Given the description of an element on the screen output the (x, y) to click on. 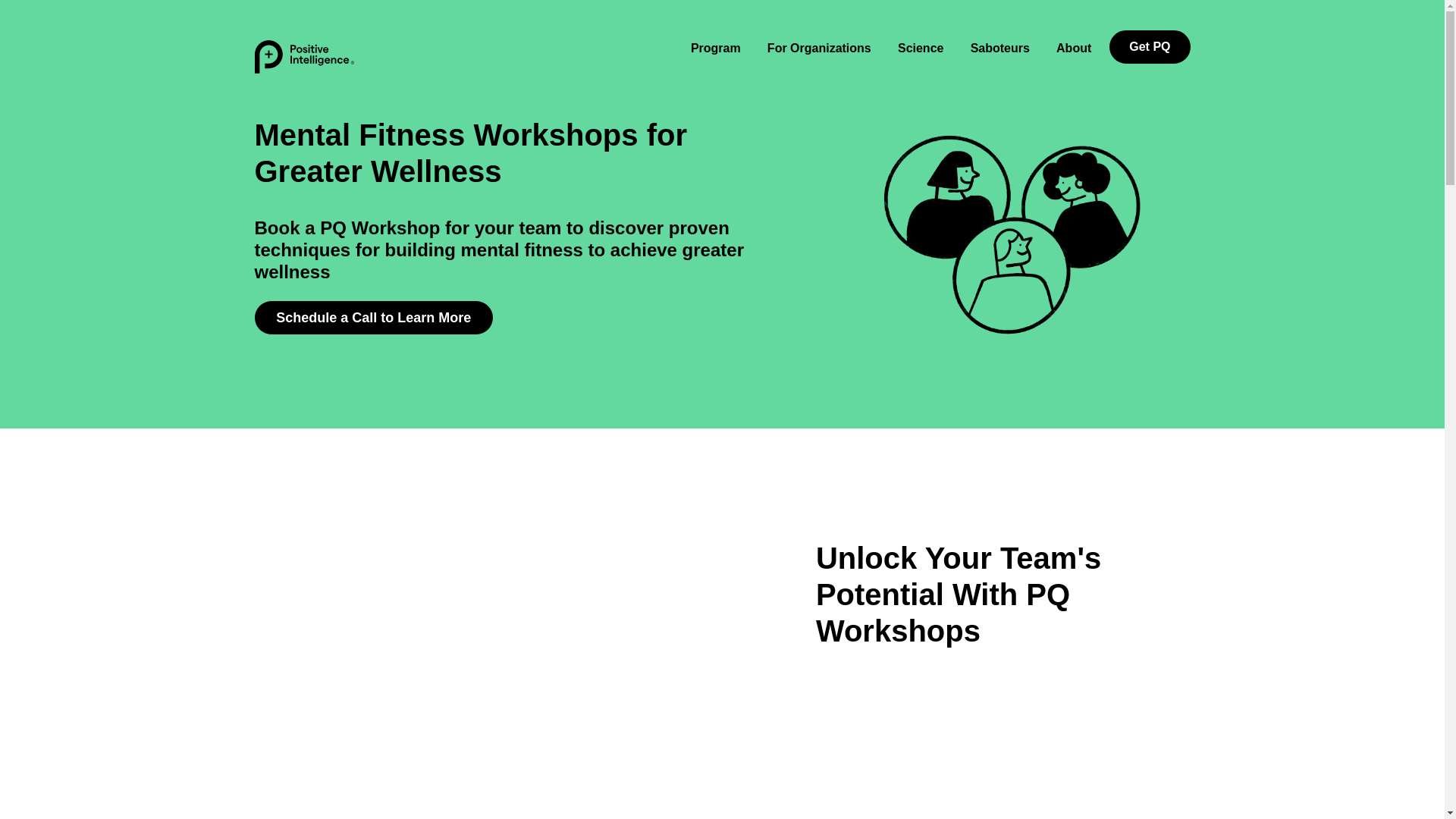
Skip to content (143, 62)
Get PQ (1149, 46)
About (1073, 47)
Program (715, 47)
Saboteurs (999, 47)
Science (920, 47)
Schedule a Call to Learn More (373, 317)
For Organizations (819, 47)
